Given the description of an element on the screen output the (x, y) to click on. 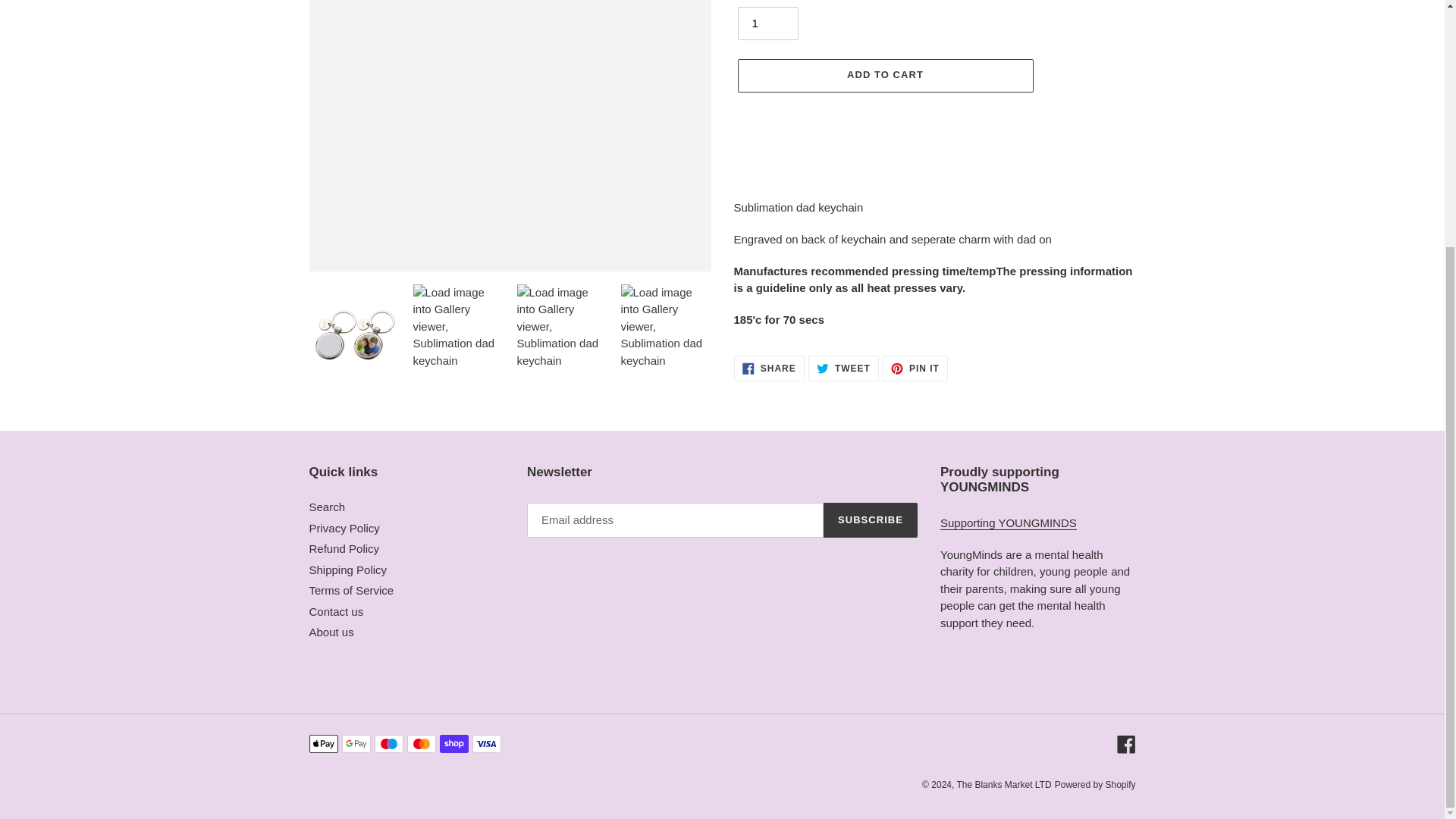
Supporting YOUNGMINDS (1008, 522)
About us (330, 631)
1 (766, 23)
ADD TO CART (884, 75)
Refund Policy (344, 548)
Contact us (336, 611)
Shipping Policy (769, 368)
Terms of Service (843, 368)
Search (347, 569)
Privacy Policy (351, 590)
SUBSCRIBE (914, 368)
